Given the description of an element on the screen output the (x, y) to click on. 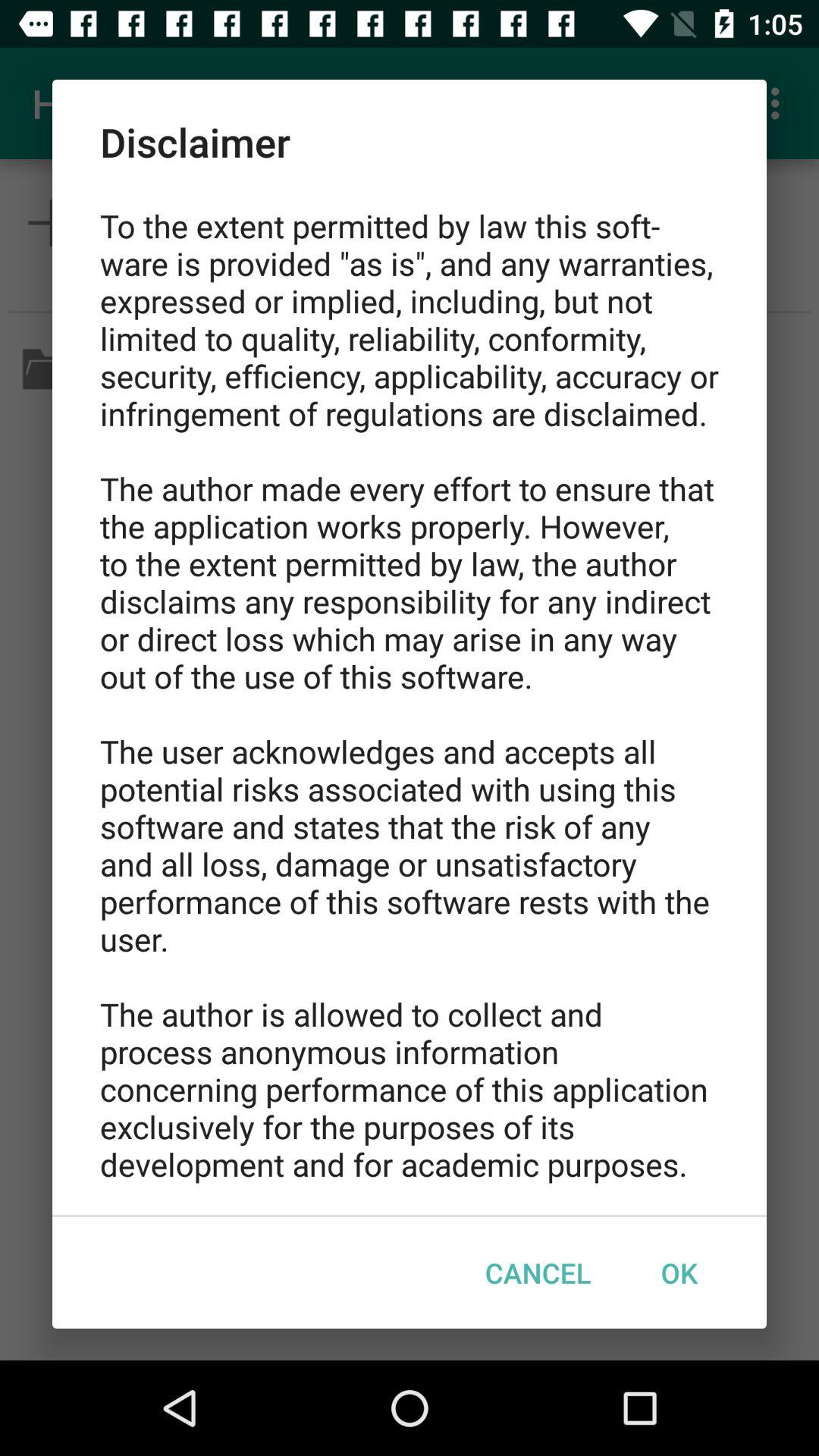
click icon next to the ok (538, 1272)
